Given the description of an element on the screen output the (x, y) to click on. 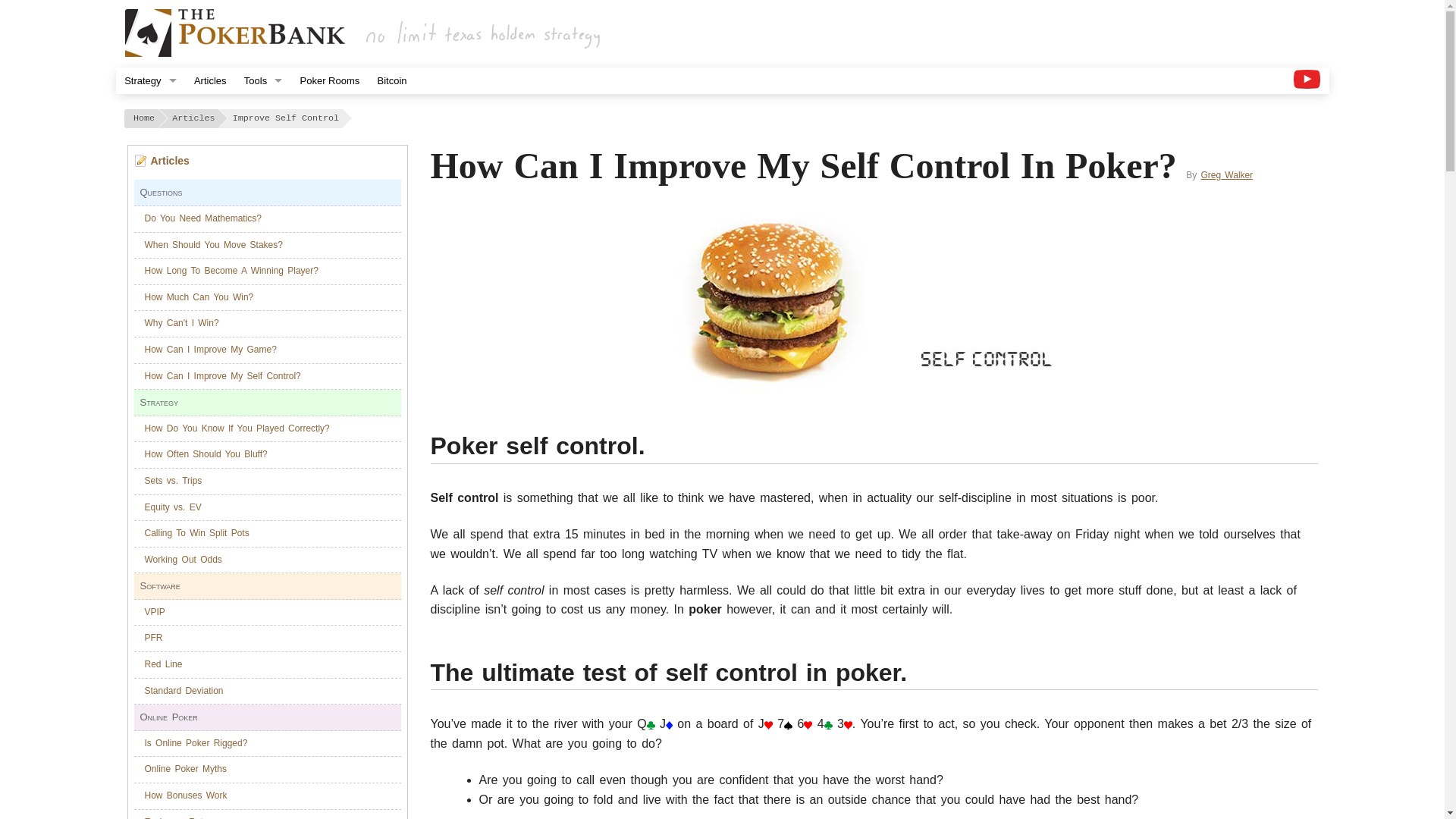
Tools (262, 80)
Sets vs. Trips (173, 480)
Articles (209, 80)
How Can I Improve My Self Control? (221, 376)
Why Can't I Win? (181, 322)
VPIP (154, 611)
Bitcoin (391, 80)
How Can I Improve My Game? (210, 348)
Beginners Guide (149, 107)
PFR (152, 637)
How Long To Become A Winning Player? (230, 270)
Software (262, 186)
Calling To Win Split Pots (196, 532)
Do You Need Mathematics? (203, 217)
When Should You Move Stakes? (213, 244)
